Given the description of an element on the screen output the (x, y) to click on. 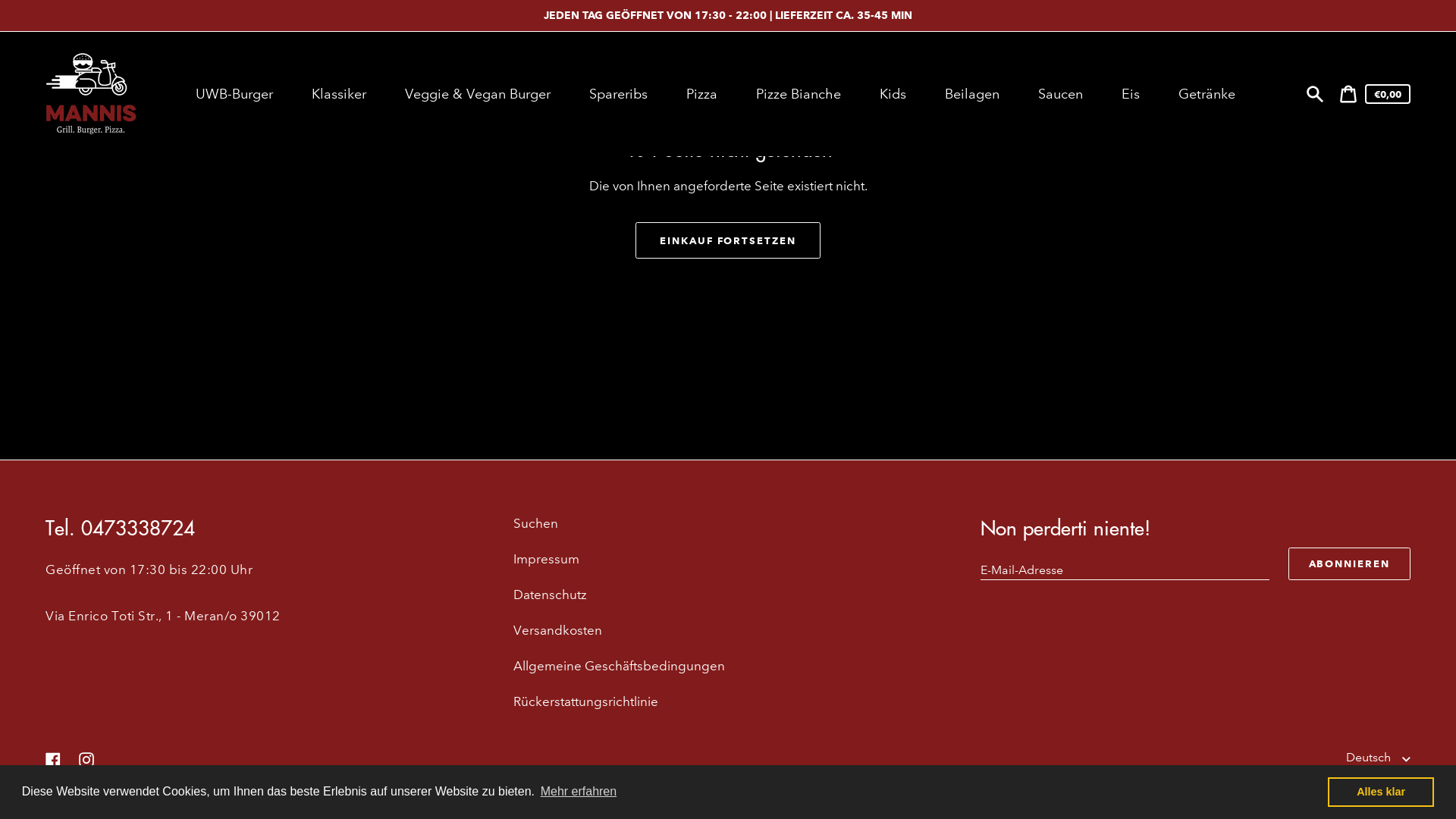
Beilagen Element type: text (973, 93)
Facebook Element type: text (52, 758)
Warenkorb Element type: text (1348, 93)
Mannis Food Delivery Element type: text (126, 790)
Deutsch Element type: text (1378, 757)
Versandkosten Element type: text (557, 630)
Spareribs Element type: text (620, 93)
EINKAUF FORTSETZEN Element type: text (727, 240)
Pizza Element type: text (703, 93)
Impressum Element type: text (546, 559)
Mehr erfahren Element type: text (577, 791)
Veggie & Vegan Burger Element type: text (479, 93)
Datenschutz Element type: text (549, 594)
Eis Element type: text (1132, 93)
Klassiker Element type: text (340, 93)
Instagram Element type: text (86, 758)
Saucen Element type: text (1062, 93)
UWB-Burger Element type: text (236, 93)
ABONNIEREN Element type: text (1348, 563)
Pizze Bianche Element type: text (800, 93)
Suchen Element type: text (1314, 93)
Suchen Element type: text (535, 523)
Alles klar Element type: text (1380, 791)
Kids Element type: text (894, 93)
